Given the description of an element on the screen output the (x, y) to click on. 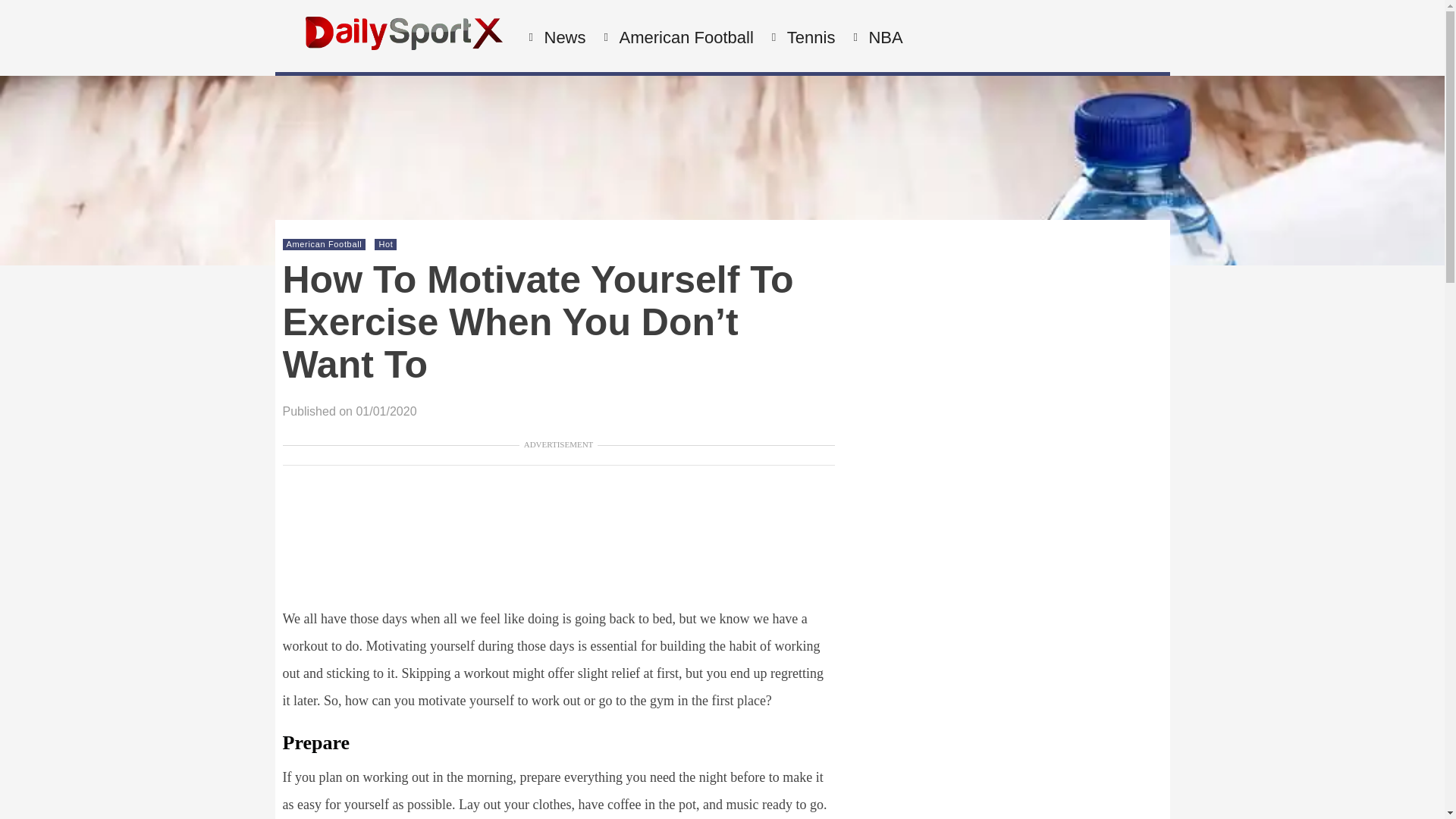
Tennis (809, 37)
News (562, 37)
NBA (883, 37)
Hot (385, 243)
DailySportX (403, 45)
American Football (324, 243)
American Football (684, 37)
